Given the description of an element on the screen output the (x, y) to click on. 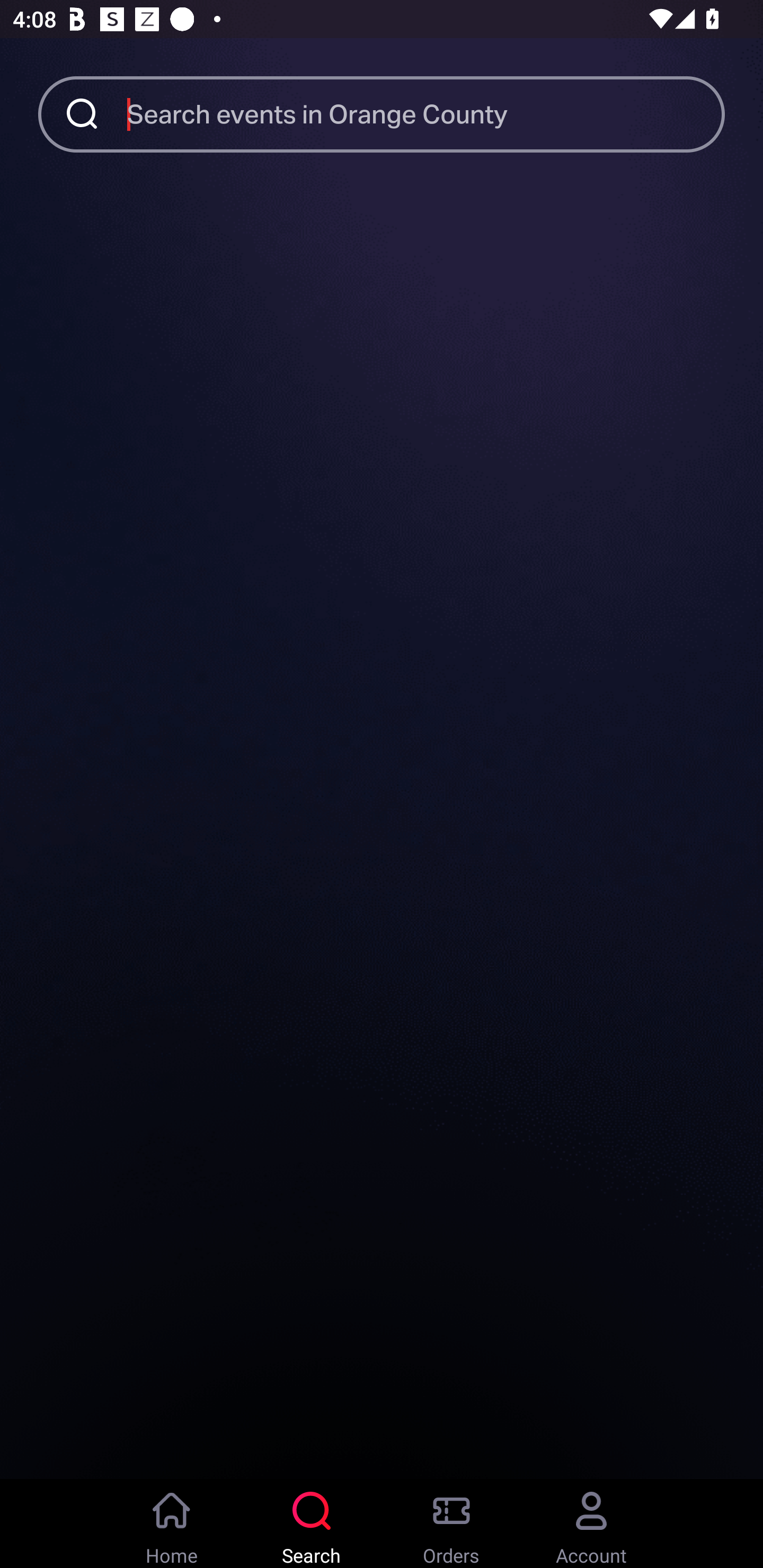
Search events in Orange County (425, 113)
Home (171, 1523)
Orders (451, 1523)
Account (591, 1523)
